Given the description of an element on the screen output the (x, y) to click on. 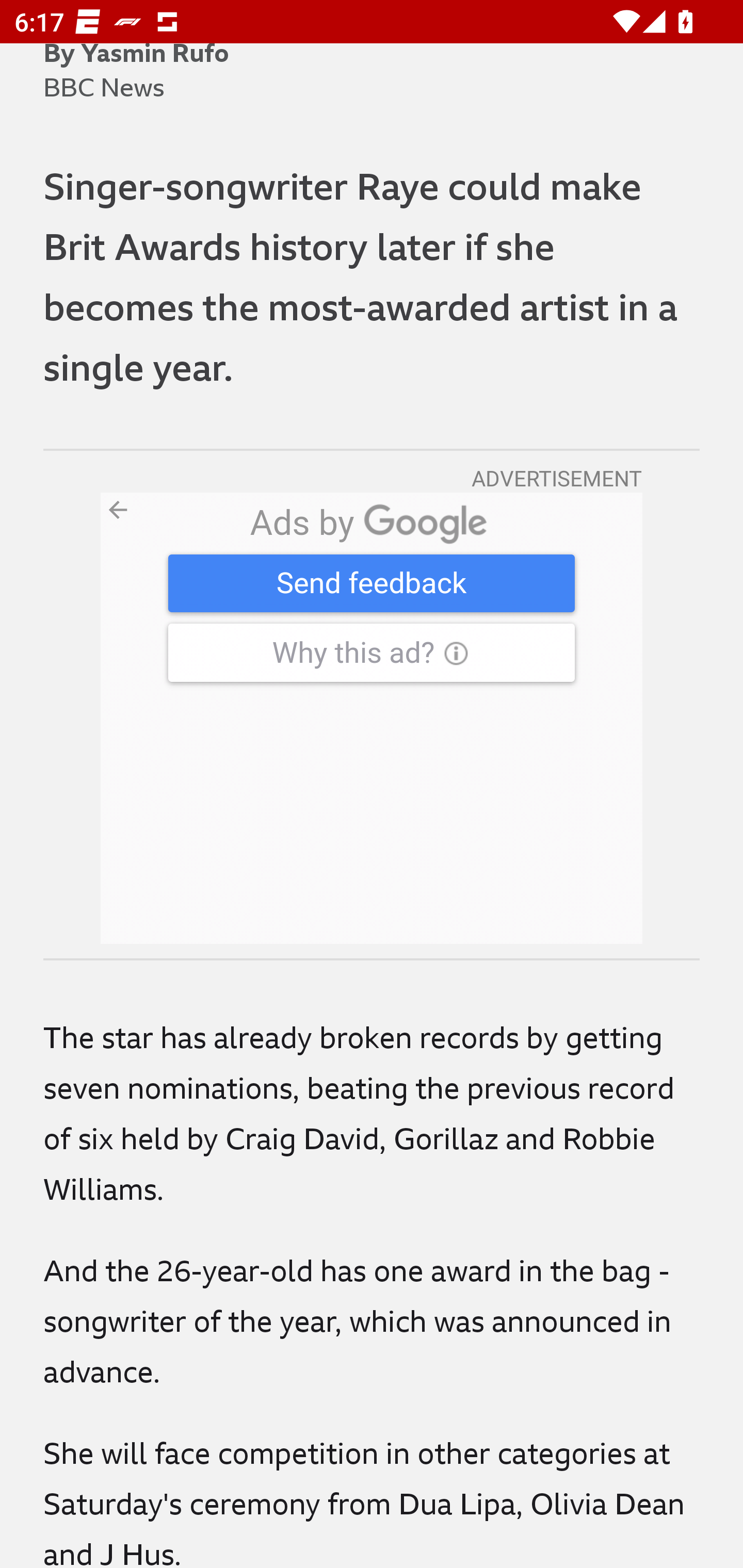
Advertisement (371, 717)
